Given the description of an element on the screen output the (x, y) to click on. 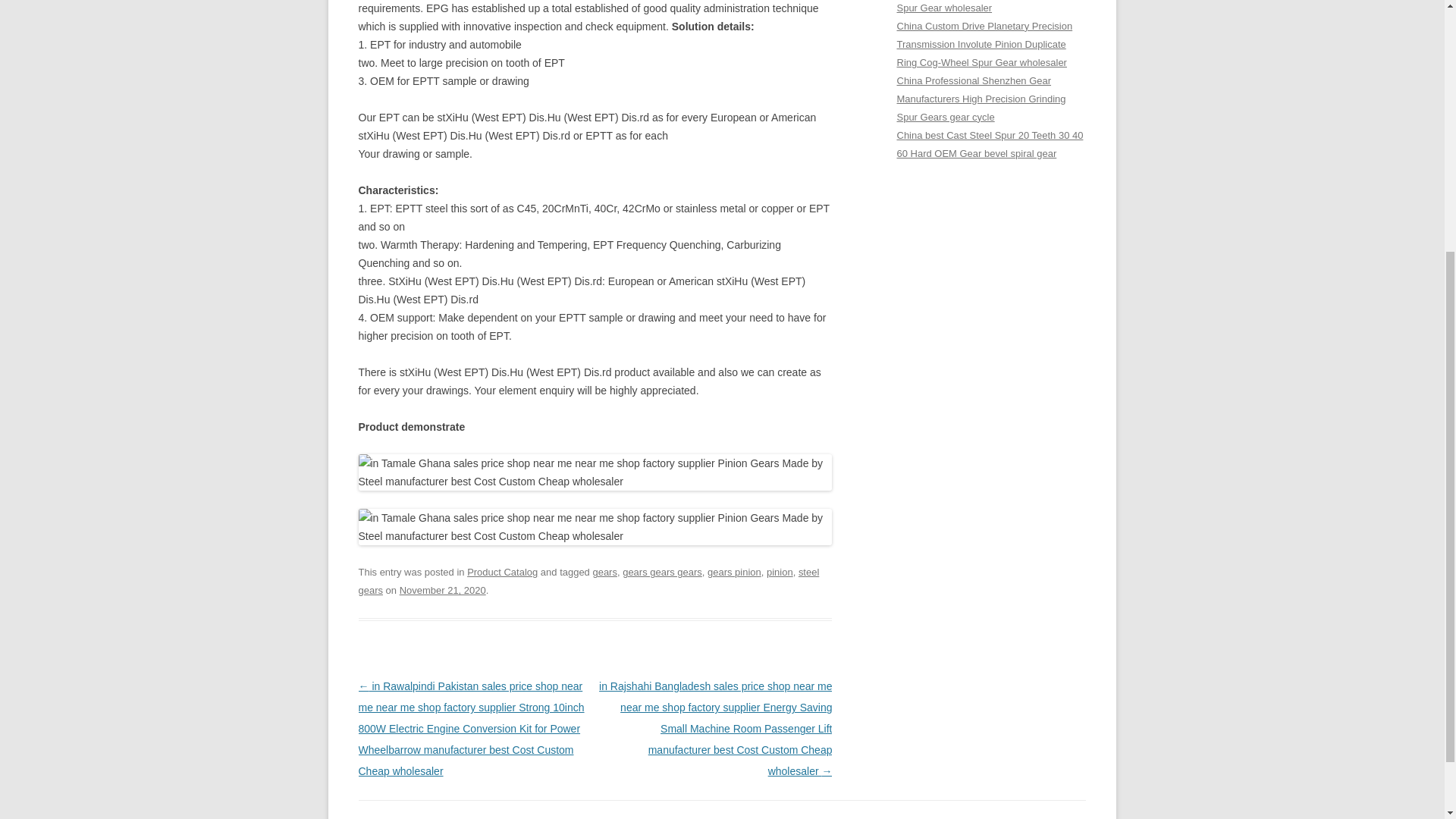
pinion (780, 572)
gears (603, 572)
1:18 am (442, 590)
gears pinion (734, 572)
steel gears (588, 581)
Product Catalog (502, 572)
gears gears gears (662, 572)
November 21, 2020 (442, 590)
